Given the description of an element on the screen output the (x, y) to click on. 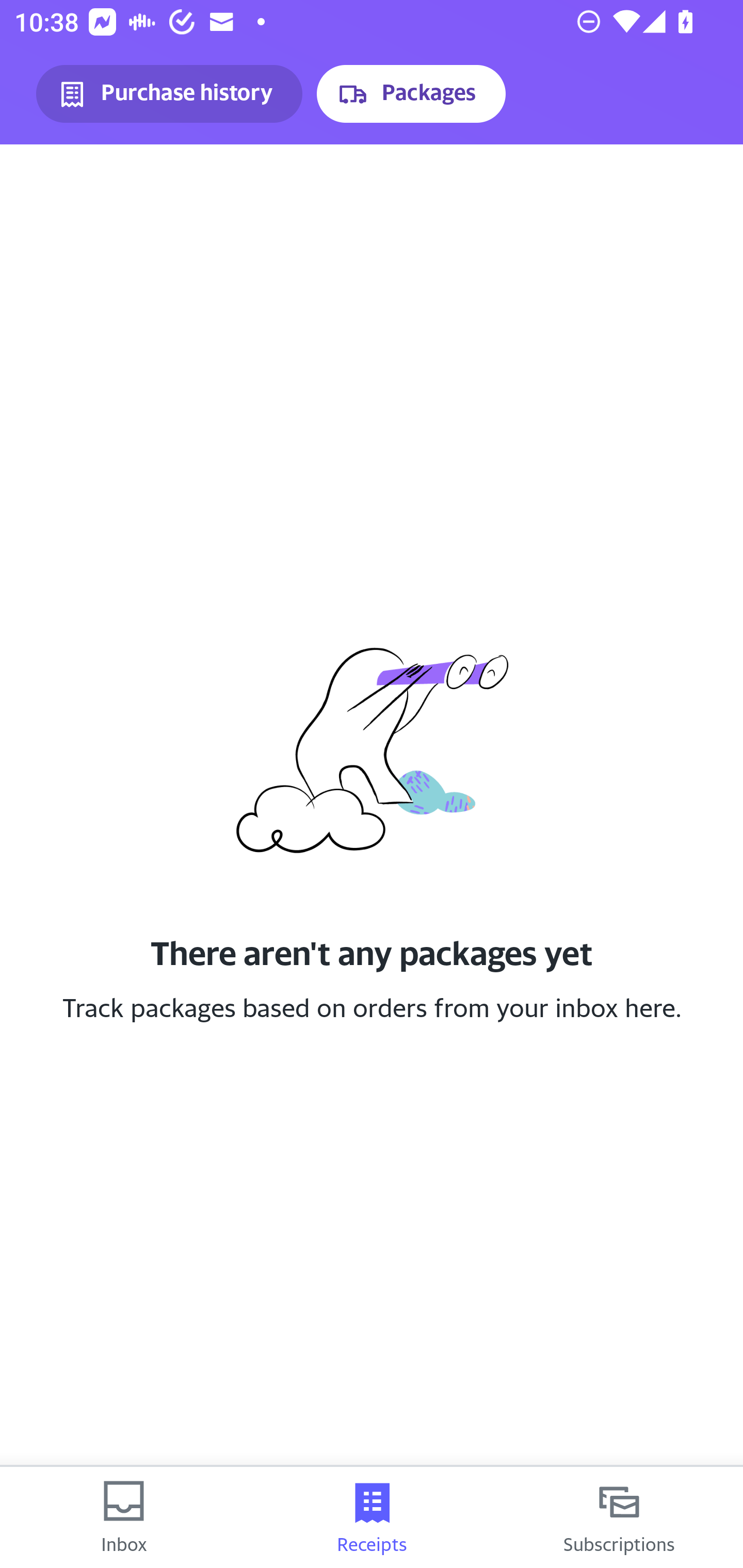
Purchase history (169, 93)
Inbox (123, 1517)
Receipts (371, 1517)
Subscriptions (619, 1517)
